Given the description of an element on the screen output the (x, y) to click on. 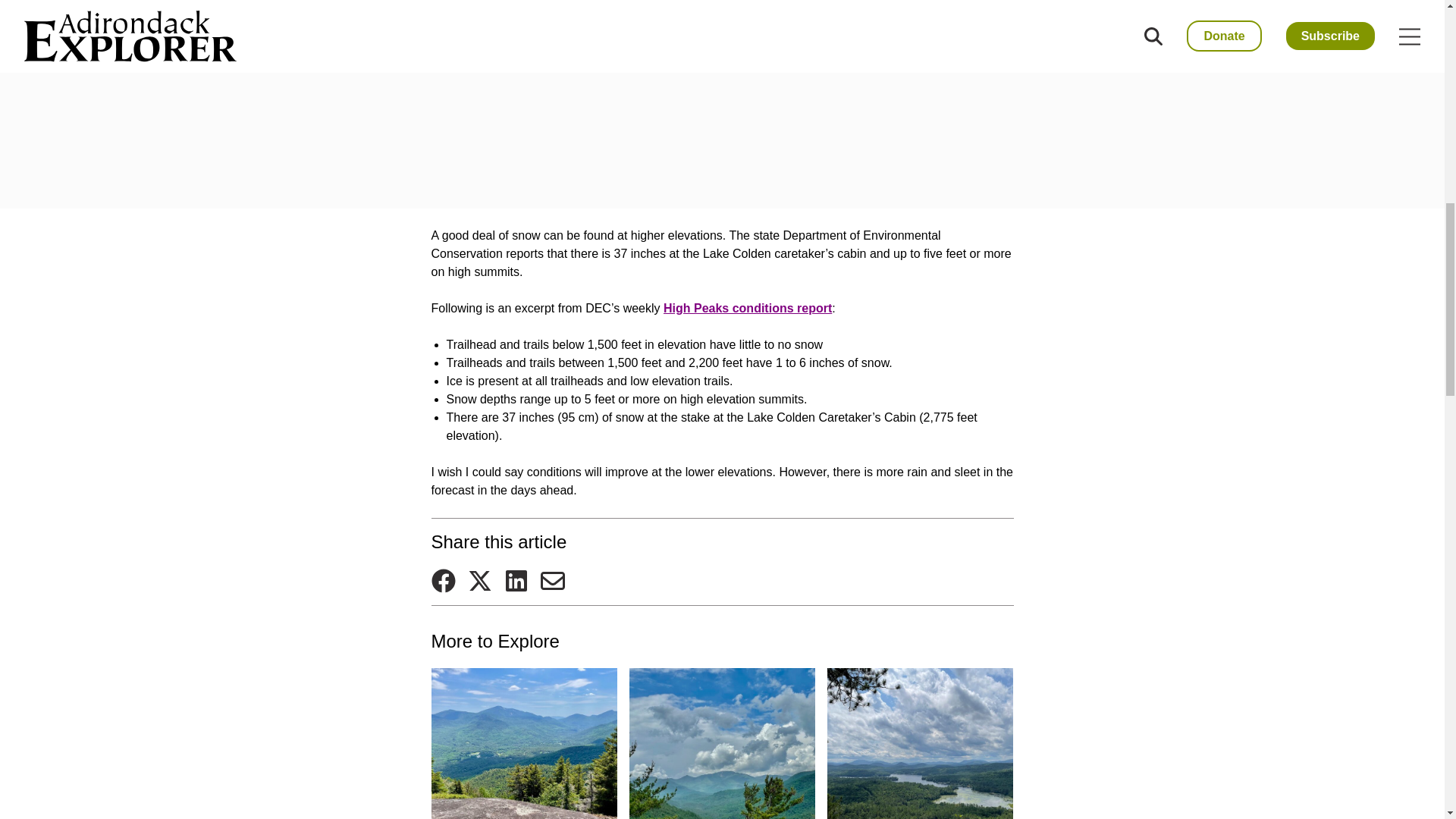
3rd party ad content (721, 101)
Share on Facebook (442, 580)
Send via Email (552, 580)
Share on LinkedIn (515, 580)
High Peaks conditions report (747, 308)
